Given the description of an element on the screen output the (x, y) to click on. 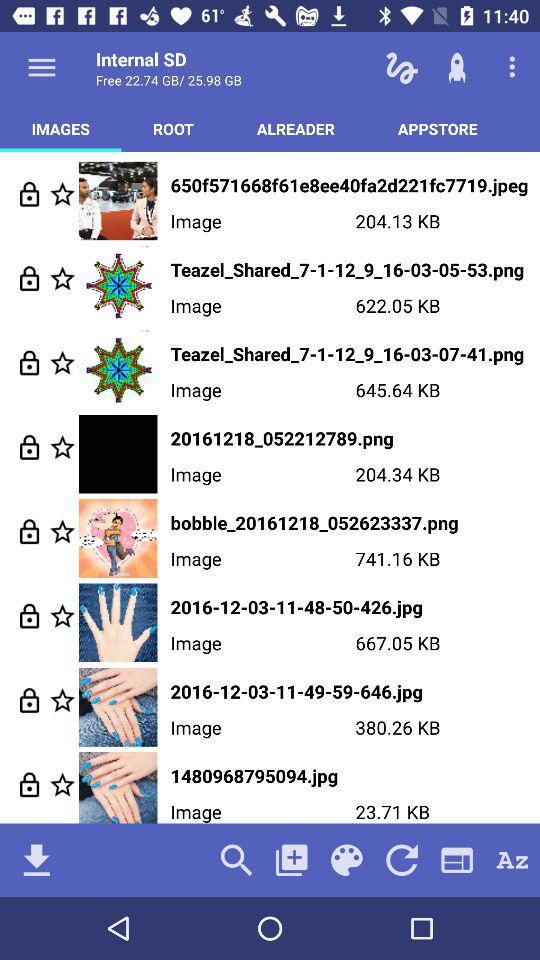
download images (36, 860)
